Given the description of an element on the screen output the (x, y) to click on. 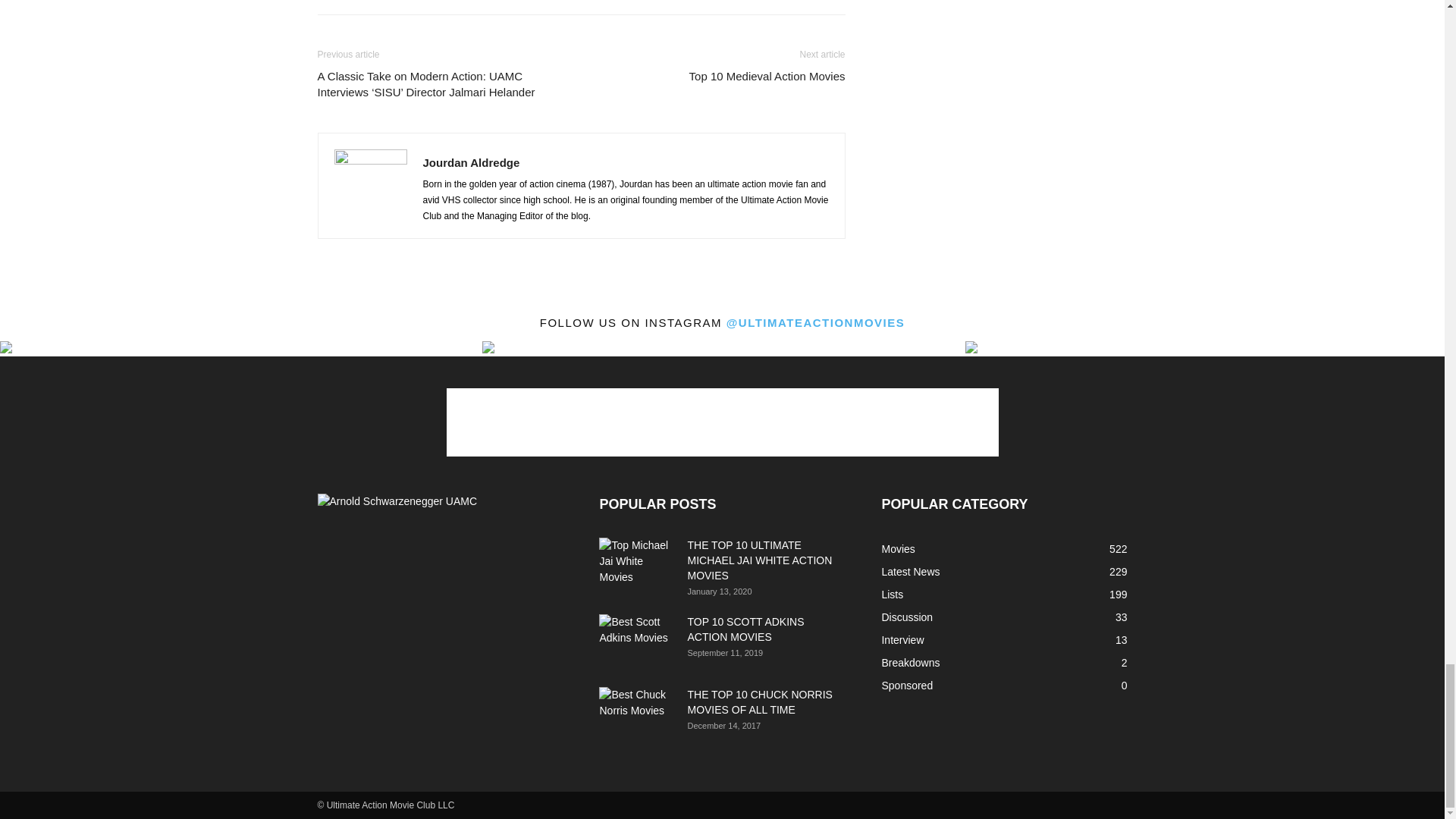
Arnold Schwarzenegger UAMC (397, 501)
The Top 10 Ultimate Michael Jai White Action Movies (759, 559)
The Top 10 Ultimate Michael Jai White Action Movies (636, 563)
Top 10 Scott Adkins Action Movies (745, 628)
Top 10 Scott Adkins Action Movies (636, 640)
The Top 10 Chuck Norris Movies of All Time (636, 708)
